Given the description of an element on the screen output the (x, y) to click on. 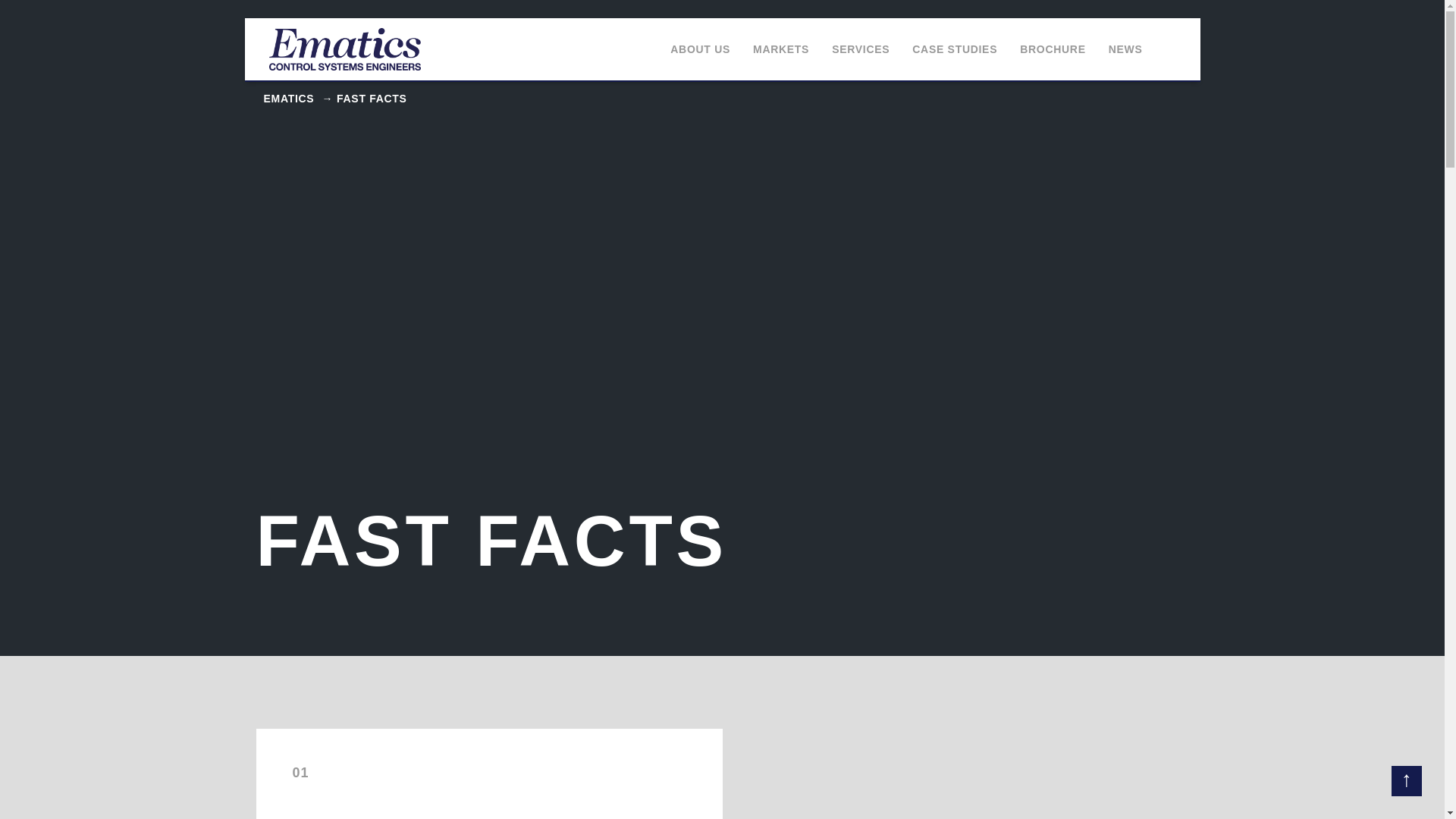
EMATICS (288, 98)
CASE STUDIES (954, 48)
SERVICES (860, 48)
NEWS (1125, 48)
SERVICES (860, 48)
About Us (699, 48)
ABOUT US (699, 48)
BROCHURE (1053, 48)
MARKETS (780, 48)
MARKETS (780, 48)
